Given the description of an element on the screen output the (x, y) to click on. 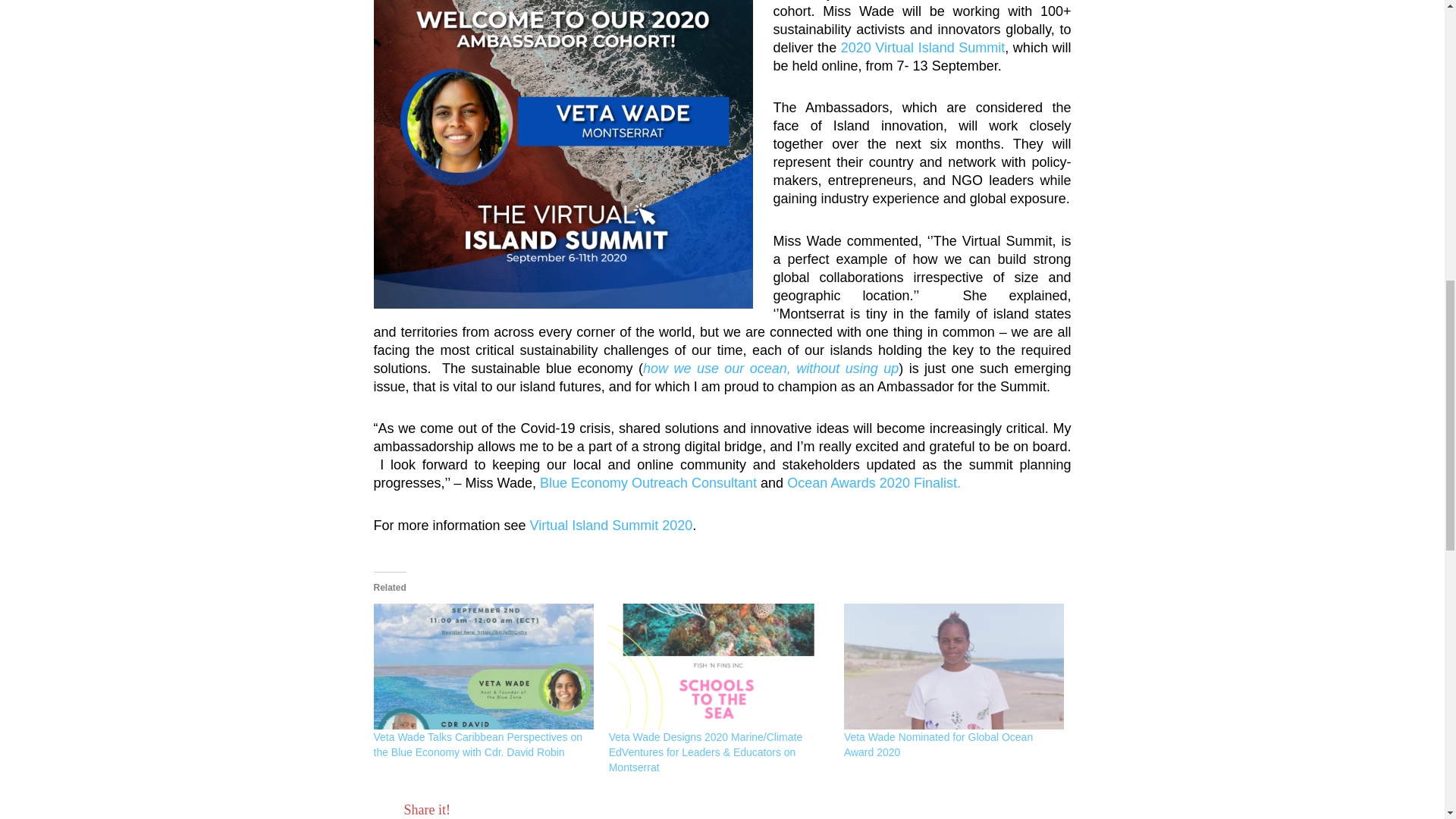
Veta Wade Nominated for Global Ocean Award 2020 (954, 666)
Veta Wade Nominated for Global Ocean Award 2020 (938, 744)
